Given the description of an element on the screen output the (x, y) to click on. 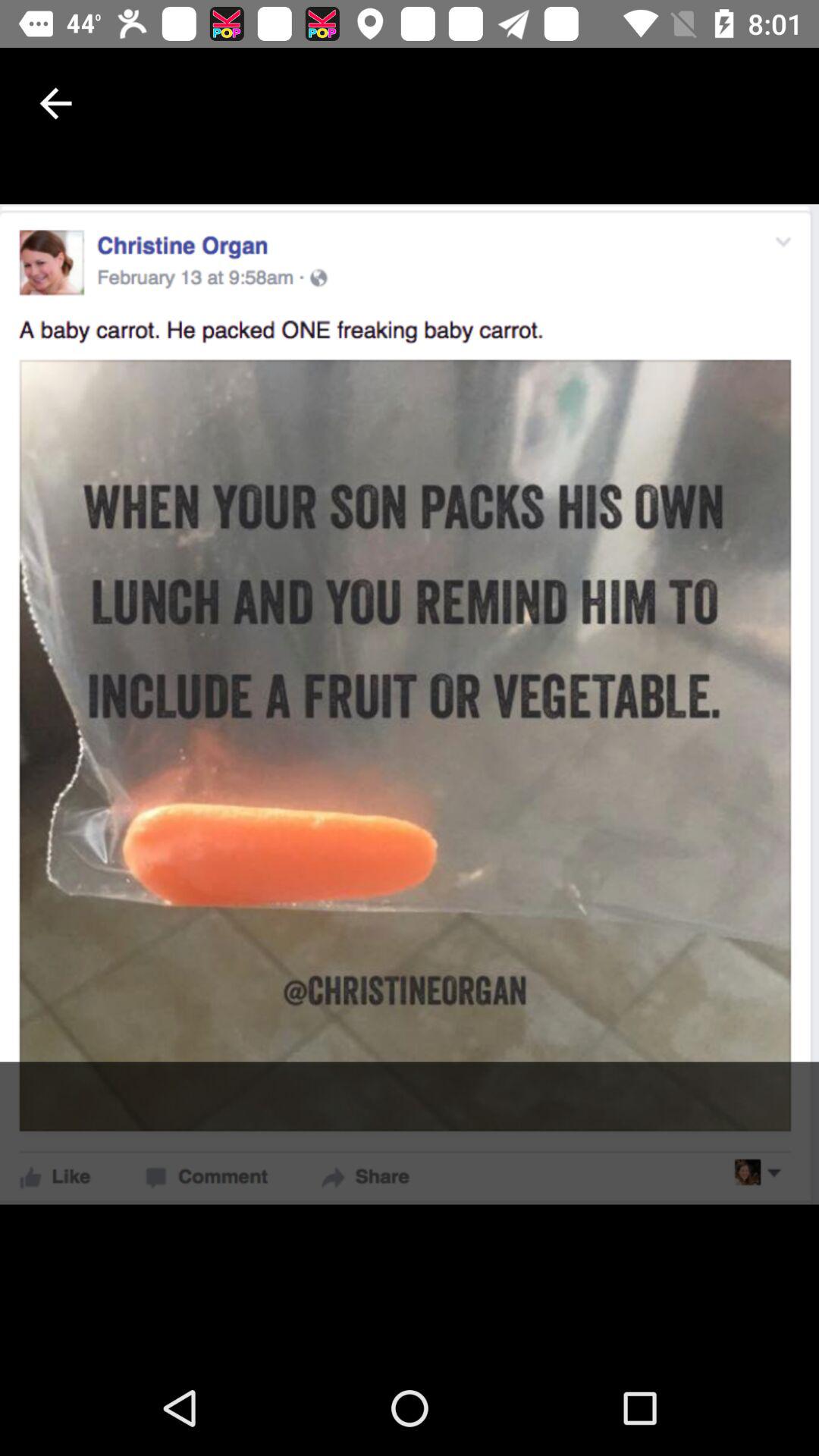
launch the item at the center (409, 703)
